Given the description of an element on the screen output the (x, y) to click on. 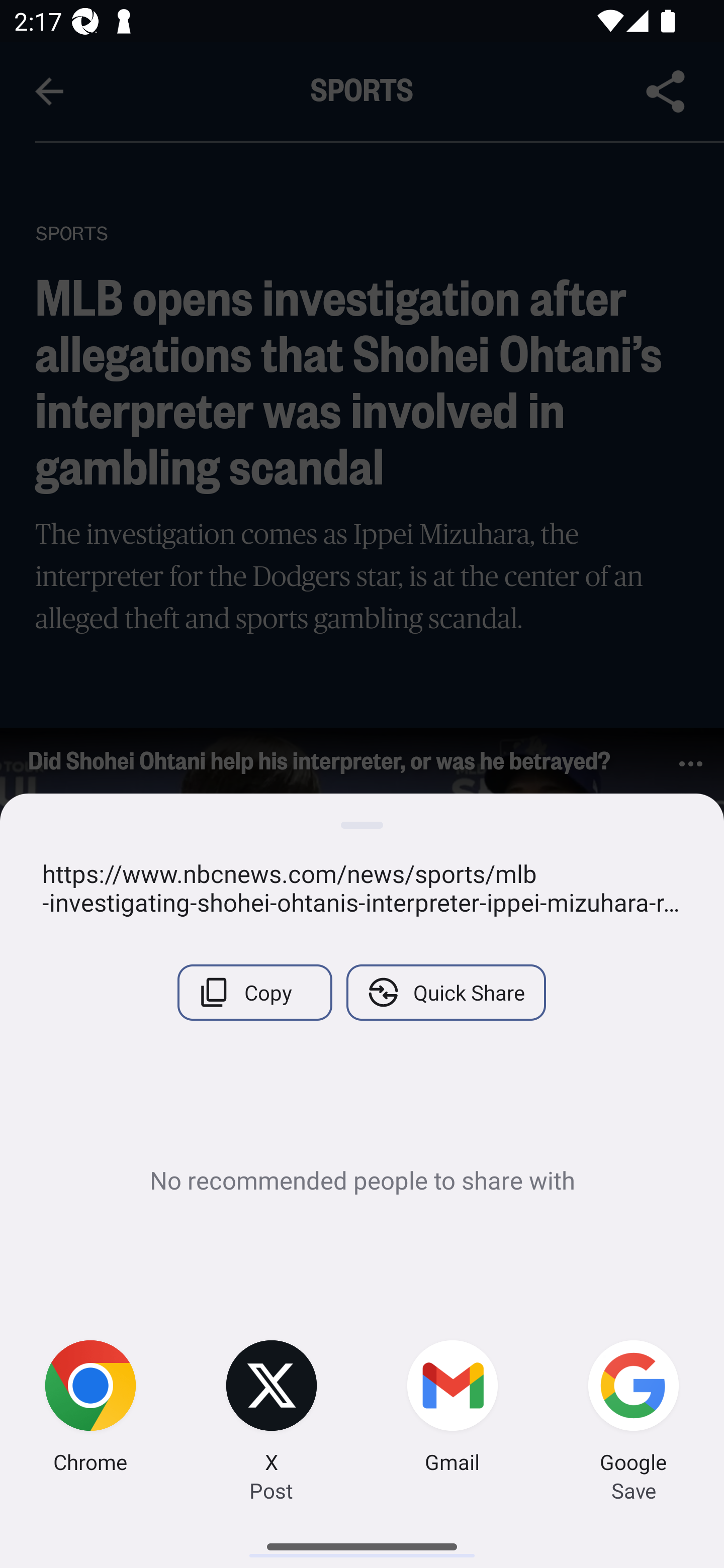
Copy (254, 992)
Quick Share (445, 992)
Chrome (90, 1409)
X Post (271, 1409)
Gmail (452, 1409)
Google Save (633, 1409)
